Given the description of an element on the screen output the (x, y) to click on. 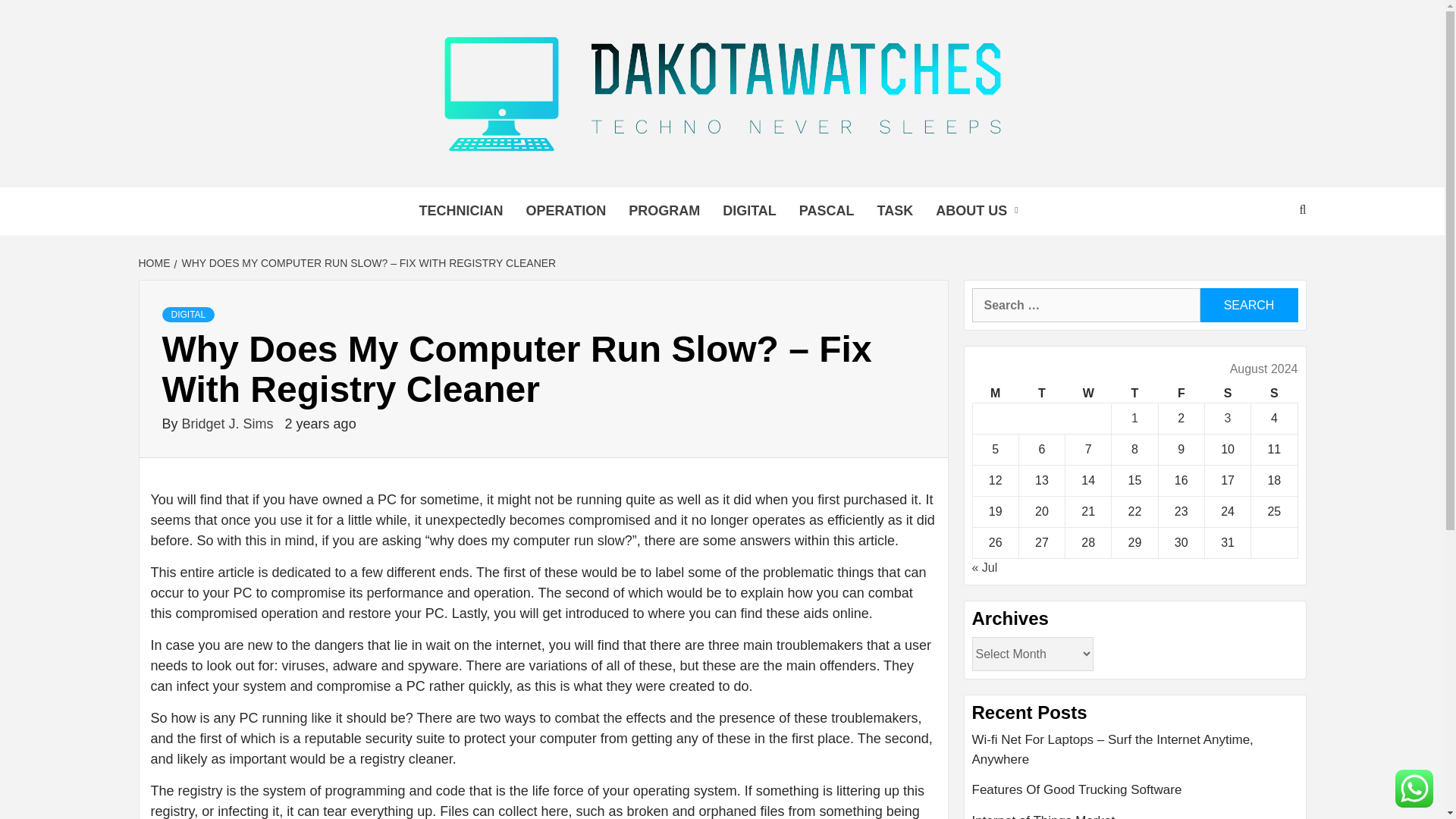
Bridget J. Sims (230, 423)
Search (1248, 305)
Search (1248, 305)
PASCAL (826, 211)
TECHNICIAN (460, 211)
Features Of Good Trucking Software (1135, 795)
Wednesday (1088, 393)
ABOUT US (980, 211)
Thursday (1134, 393)
TASK (894, 211)
